Given the description of an element on the screen output the (x, y) to click on. 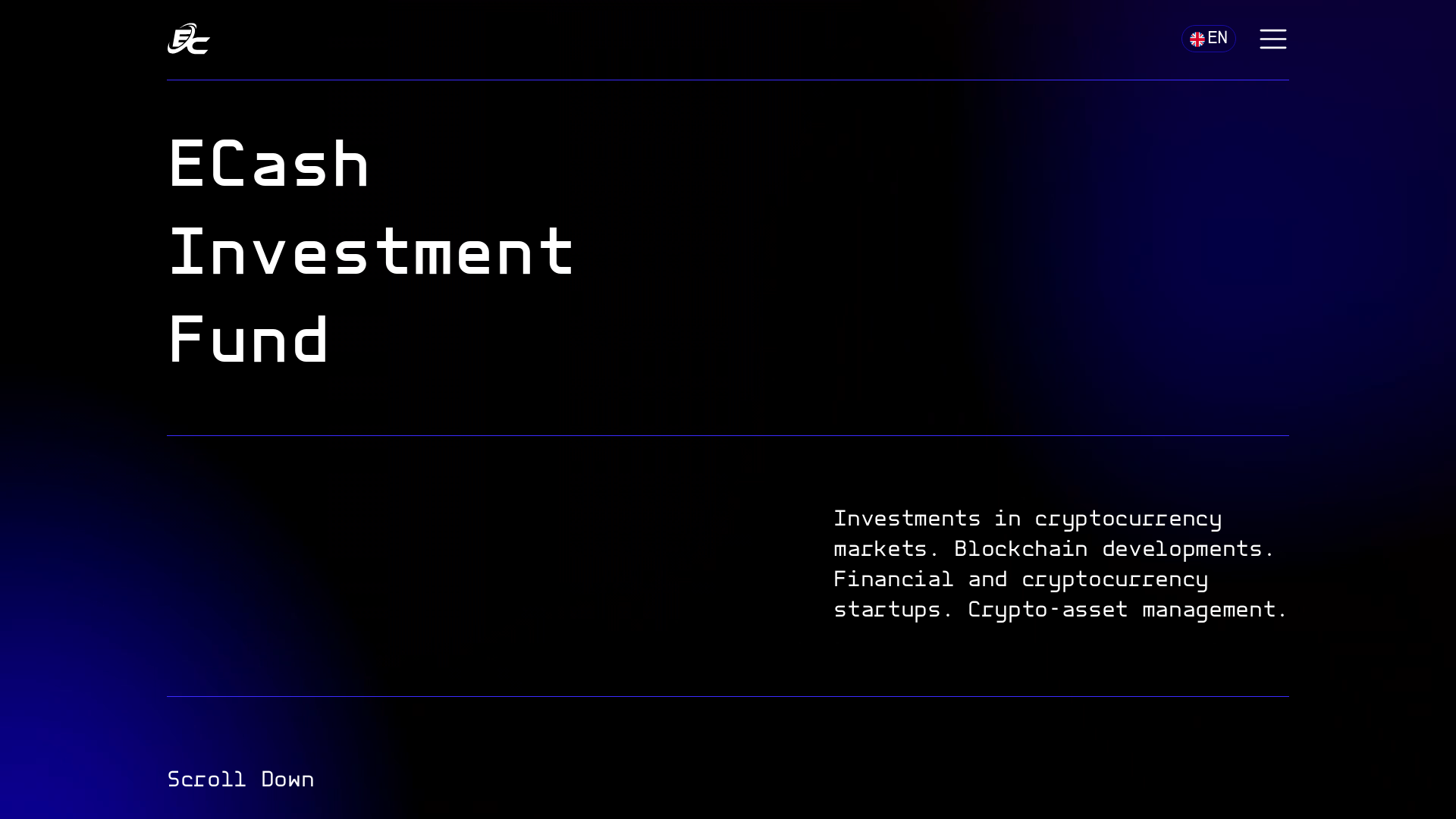
EN Element type: text (1208, 38)
Scroll Down Element type: text (239, 780)
